Given the description of an element on the screen output the (x, y) to click on. 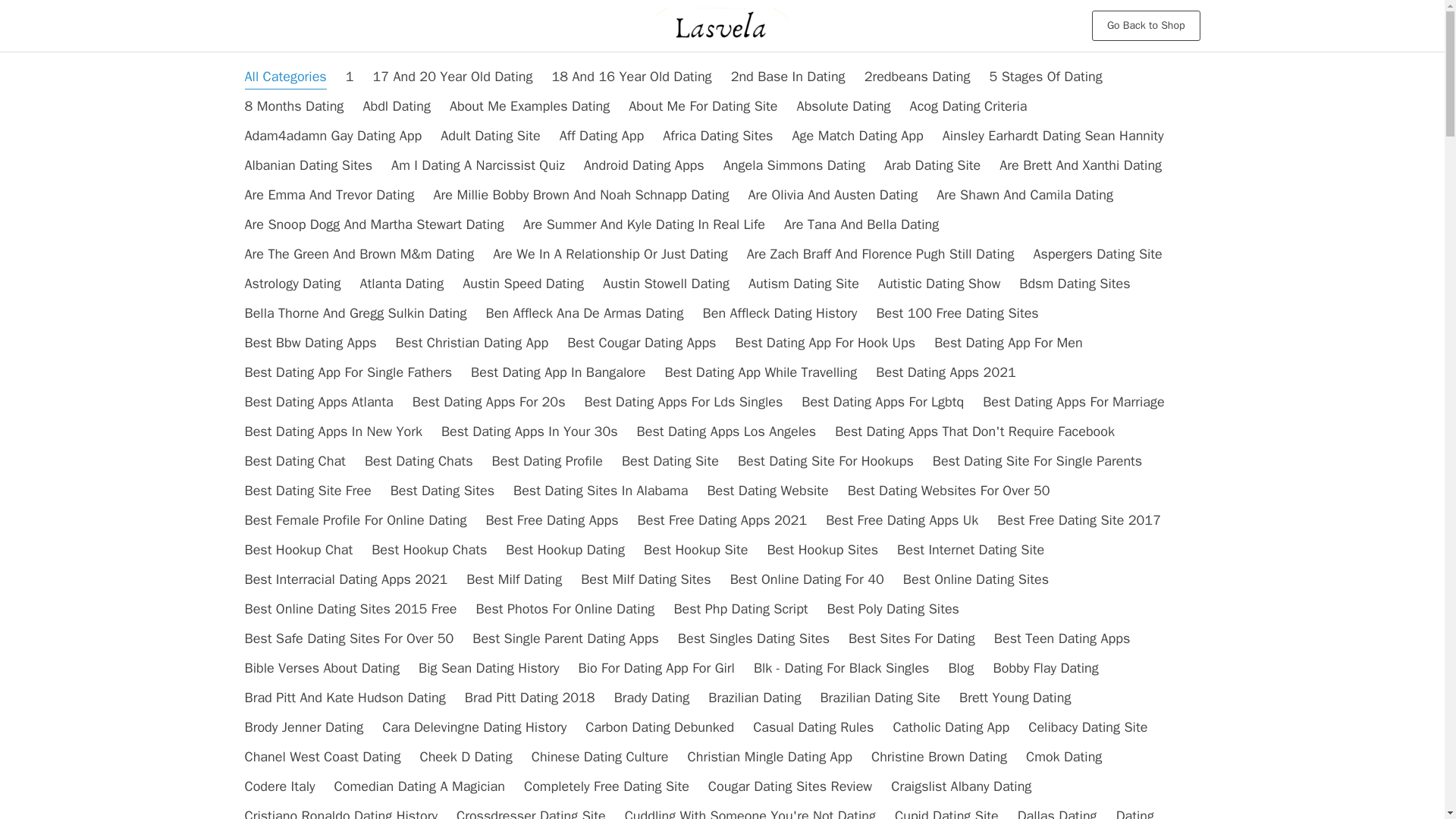
Africa Dating Sites (717, 135)
Absolute Dating (843, 106)
About Me For Dating Site (702, 106)
Aspergers Dating Site (1096, 253)
Are Shawn And Camila Dating (1024, 194)
Are Snoop Dogg And Martha Stewart Dating (373, 224)
Age Match Dating App (857, 135)
Are Millie Bobby Brown And Noah Schnapp Dating (581, 194)
Arab Dating Site (931, 165)
8 Months Dating (293, 106)
Angela Simmons Dating (793, 165)
Are We In A Relationship Or Just Dating (610, 253)
Astrology Dating (292, 283)
5 Stages Of Dating (1045, 76)
2nd Base In Dating (787, 76)
